Given the description of an element on the screen output the (x, y) to click on. 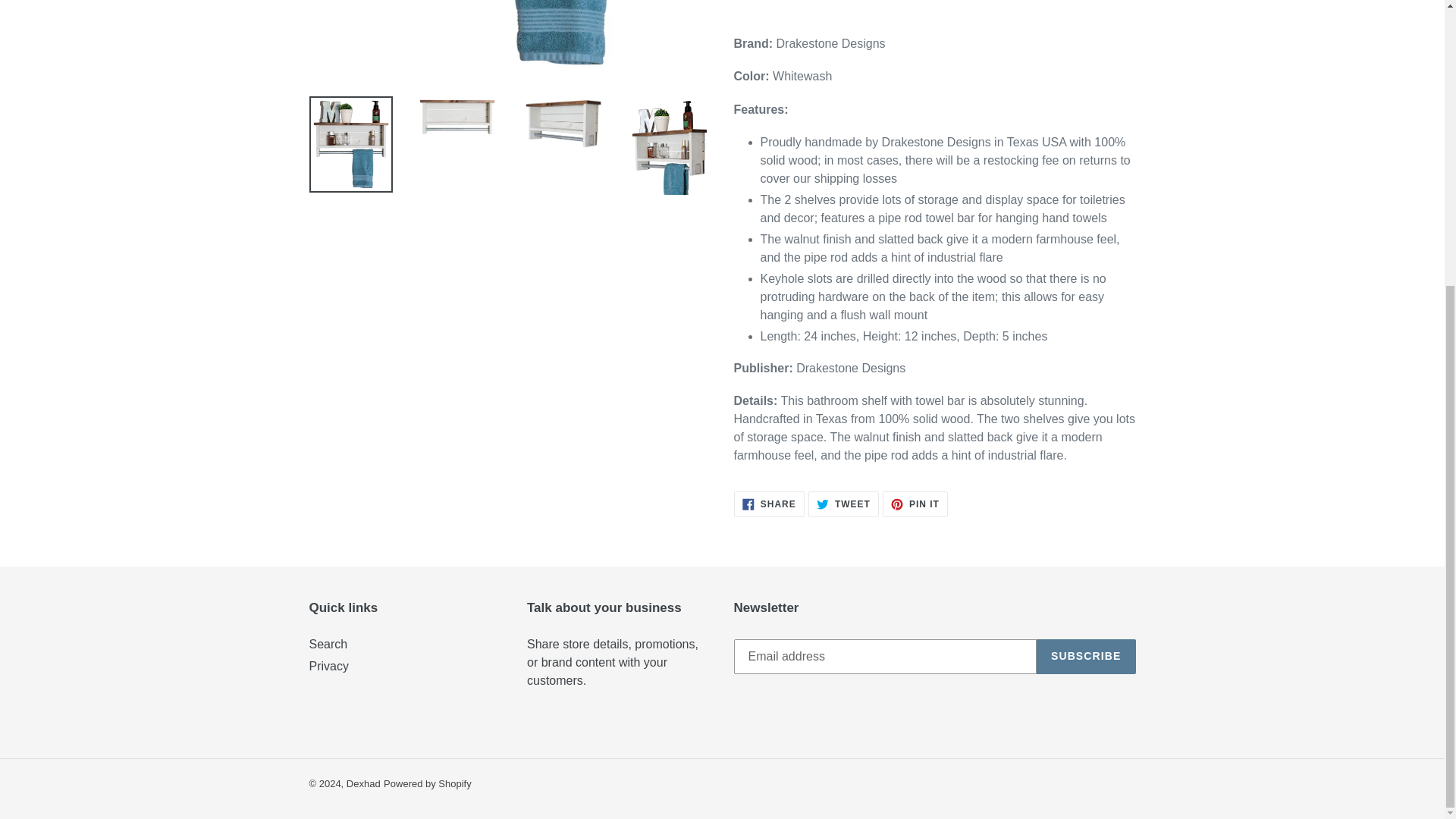
Search (769, 503)
Privacy (914, 503)
Dexhad (843, 503)
Powered by Shopify (327, 644)
SUBSCRIBE (328, 666)
